Given the description of an element on the screen output the (x, y) to click on. 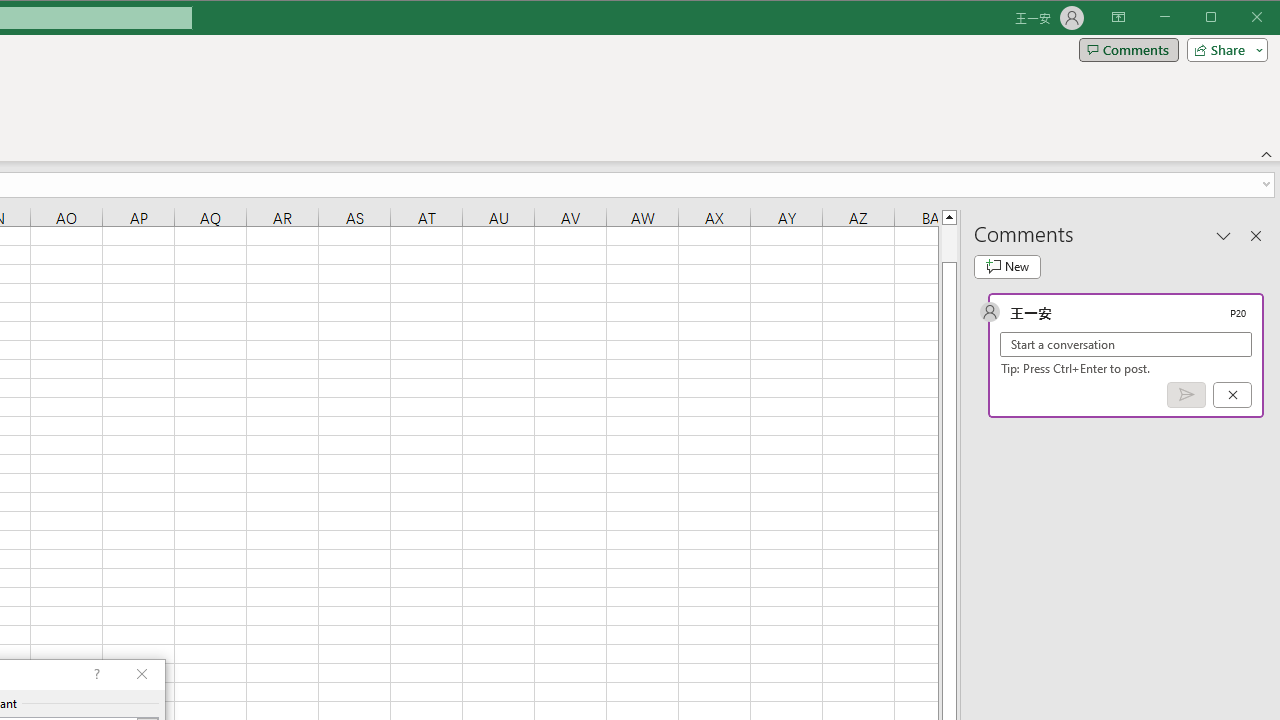
Line up (948, 216)
